Given the description of an element on the screen output the (x, y) to click on. 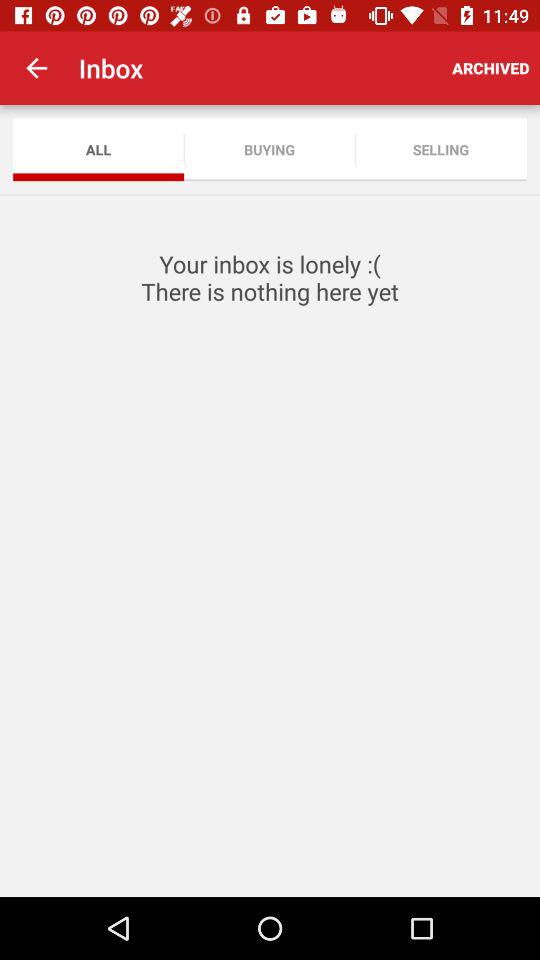
scroll until selling icon (440, 149)
